Given the description of an element on the screen output the (x, y) to click on. 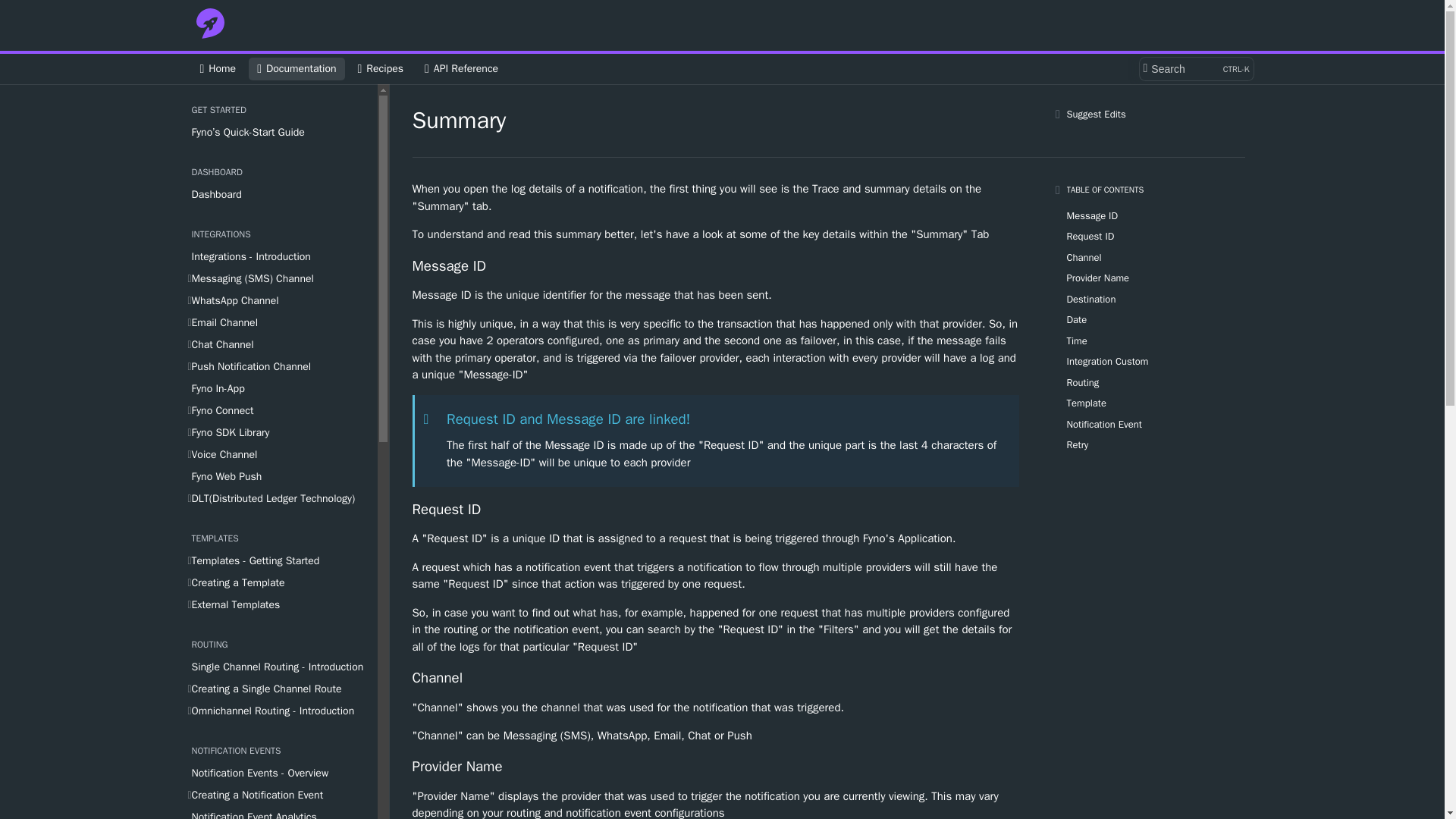
Integrations - Introduction (277, 256)
Provider Name (715, 766)
Documentation (295, 68)
Request ID (1195, 68)
Home (715, 509)
Dashboard (217, 68)
Recipes (277, 194)
API Reference (380, 68)
Channel (461, 68)
Message ID (715, 678)
